Given the description of an element on the screen output the (x, y) to click on. 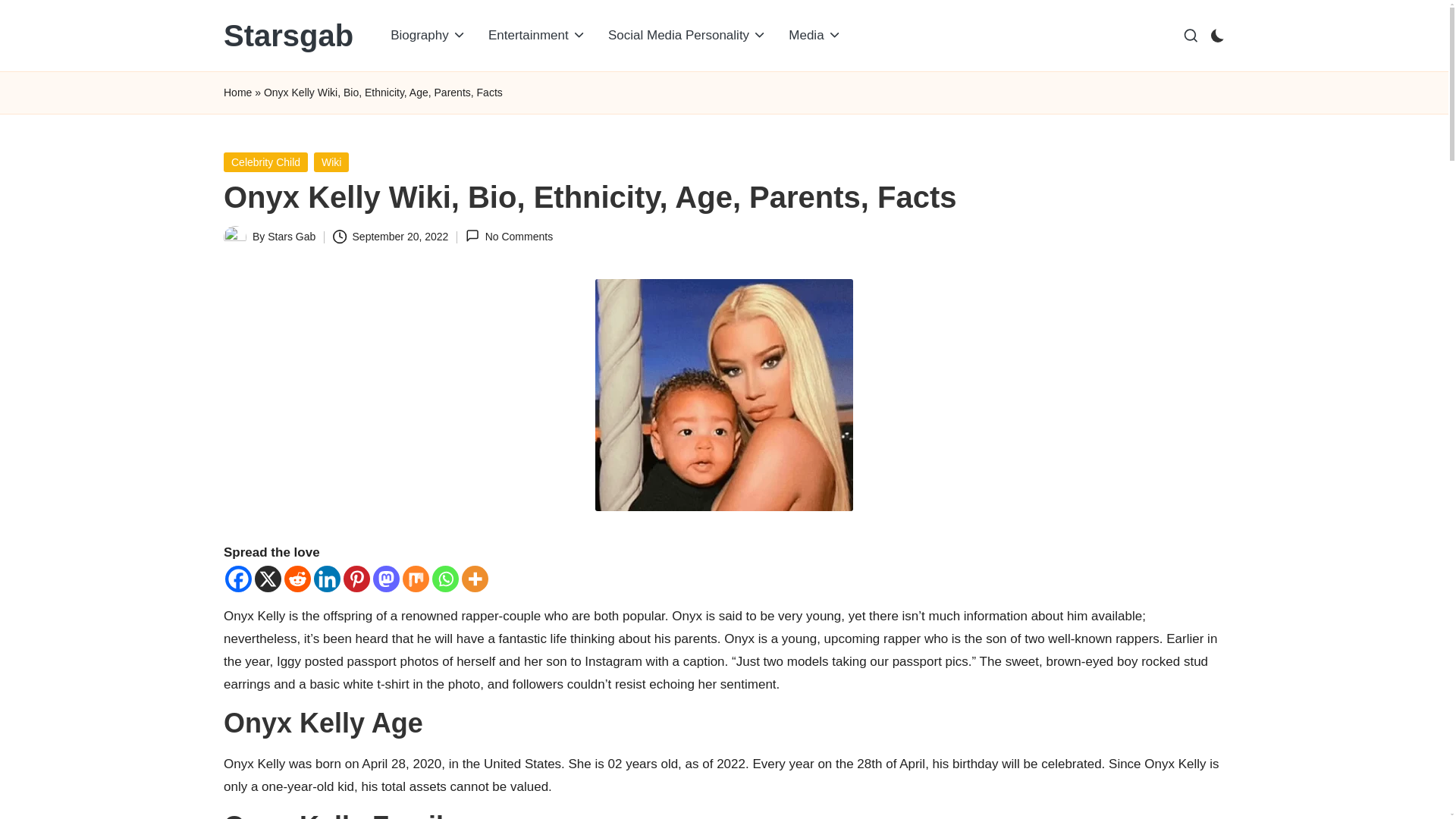
Mastodon (385, 578)
Reddit (297, 578)
More (474, 578)
View all posts by Stars Gab (291, 236)
Linkedin (327, 578)
Entertainment (536, 35)
Facebook (238, 578)
Whatsapp (445, 578)
Biography (428, 35)
Social Media Personality (686, 35)
X (267, 578)
Pinterest (356, 578)
Starsgab (288, 35)
Mix (416, 578)
